Given the description of an element on the screen output the (x, y) to click on. 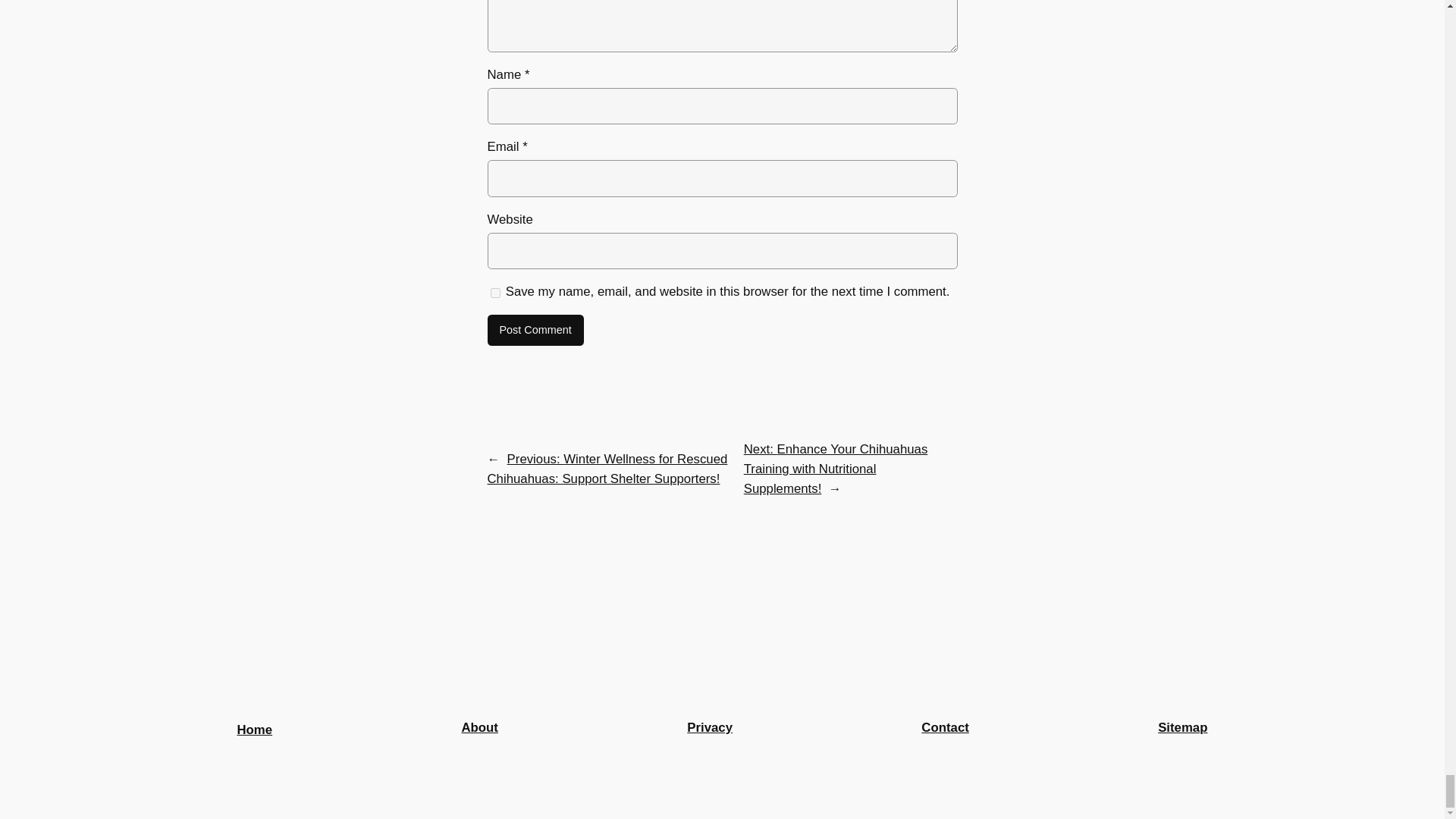
Post Comment (534, 330)
